Given the description of an element on the screen output the (x, y) to click on. 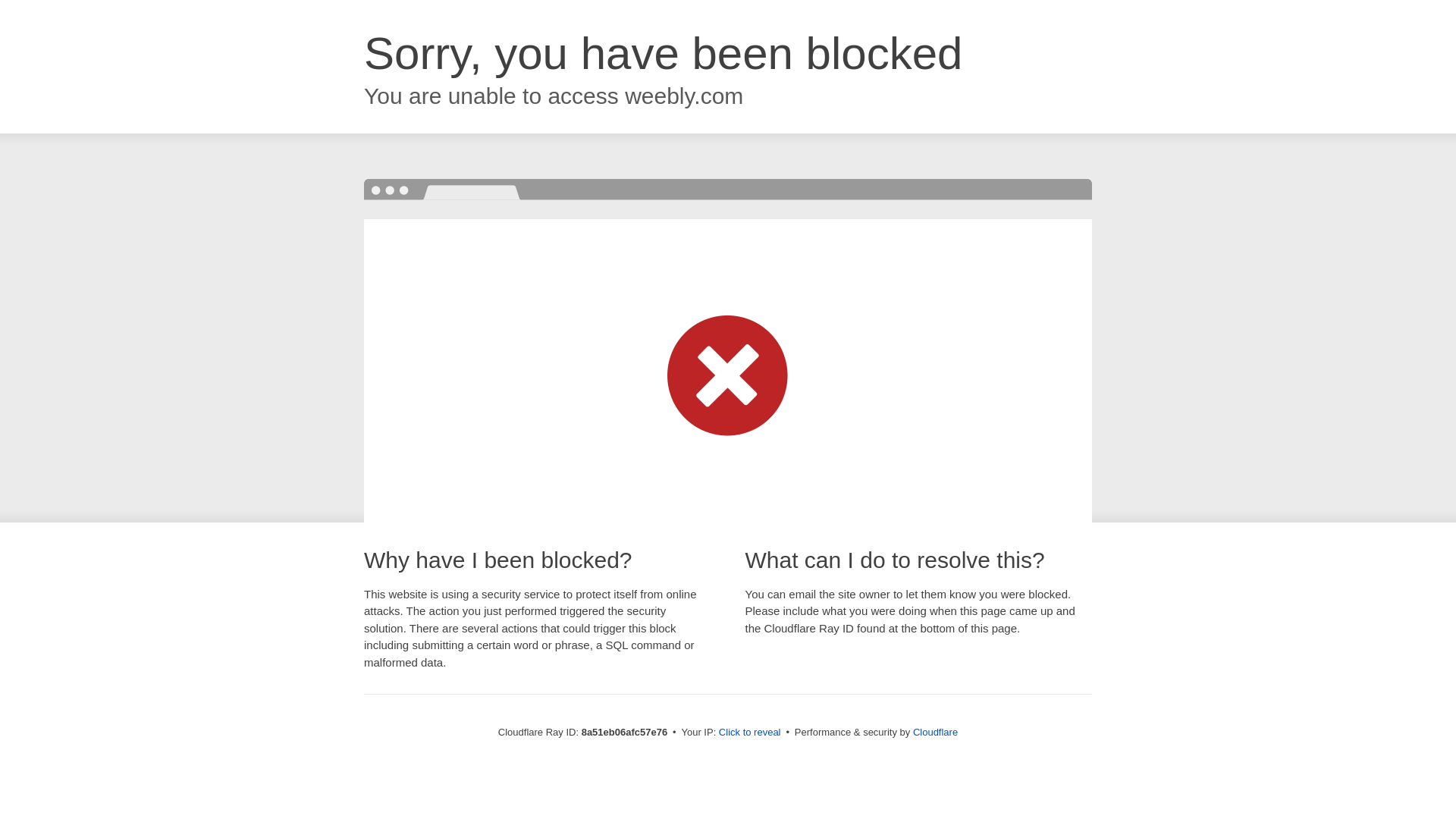
Cloudflare (935, 731)
Click to reveal (749, 732)
